Given the description of an element on the screen output the (x, y) to click on. 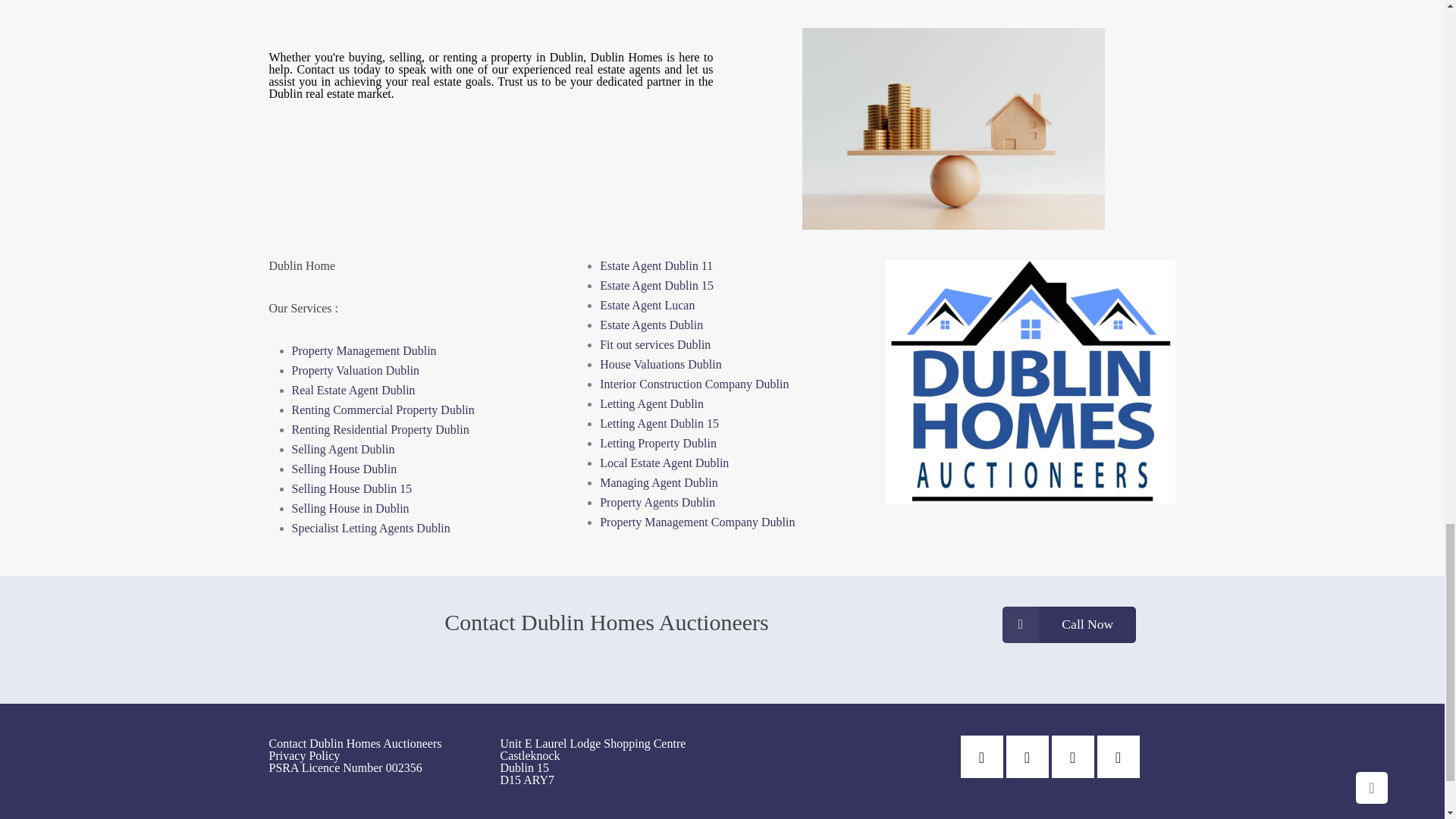
Estate Agent Lucan (646, 305)
Selling House in Dublin (350, 508)
Selling House Dublin (343, 468)
Property Agents Dublin (656, 502)
Managing Agent Dublin (658, 481)
Renting Residential Property Dublin (379, 429)
Estate Agents Dublin (651, 324)
House Valuations Dublin (660, 364)
Property Valuation Dublin (355, 369)
Selling House Dublin 15 (351, 488)
Letting Property Dublin (657, 442)
Estate Agent Dublin 15 (656, 285)
Contact Dublin Homes Auctioneers (354, 743)
Letting Agent Dublin (651, 403)
Property Management Company Dublin (696, 521)
